Given the description of an element on the screen output the (x, y) to click on. 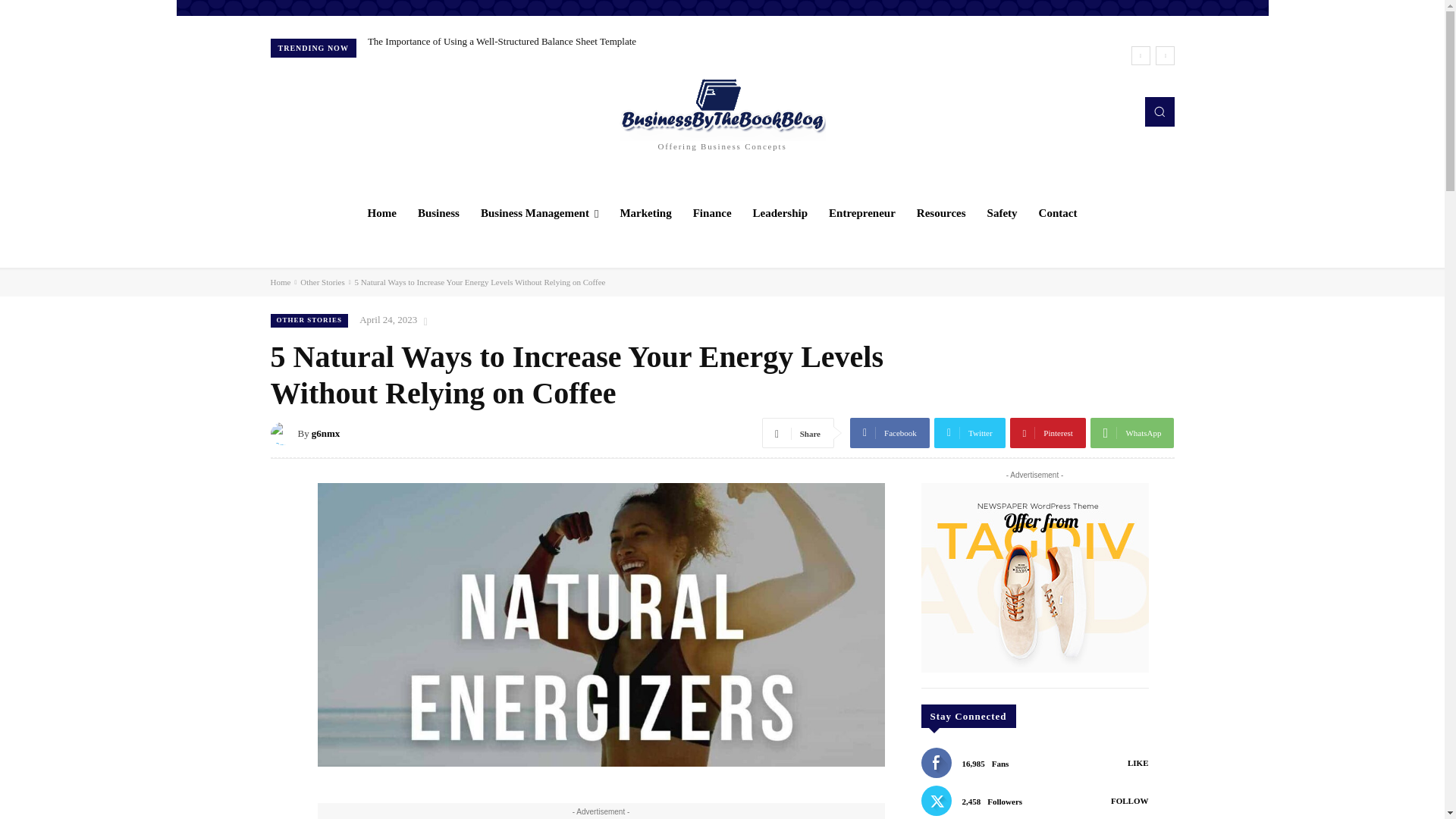
Business (438, 212)
Leadership (780, 212)
Resources (940, 212)
Contact (1057, 212)
Home (381, 212)
Finance (712, 212)
Entrepreneur (861, 212)
Marketing (644, 212)
Safety (1001, 212)
Business Management (539, 212)
Offering Business Concepts (722, 111)
